Given the description of an element on the screen output the (x, y) to click on. 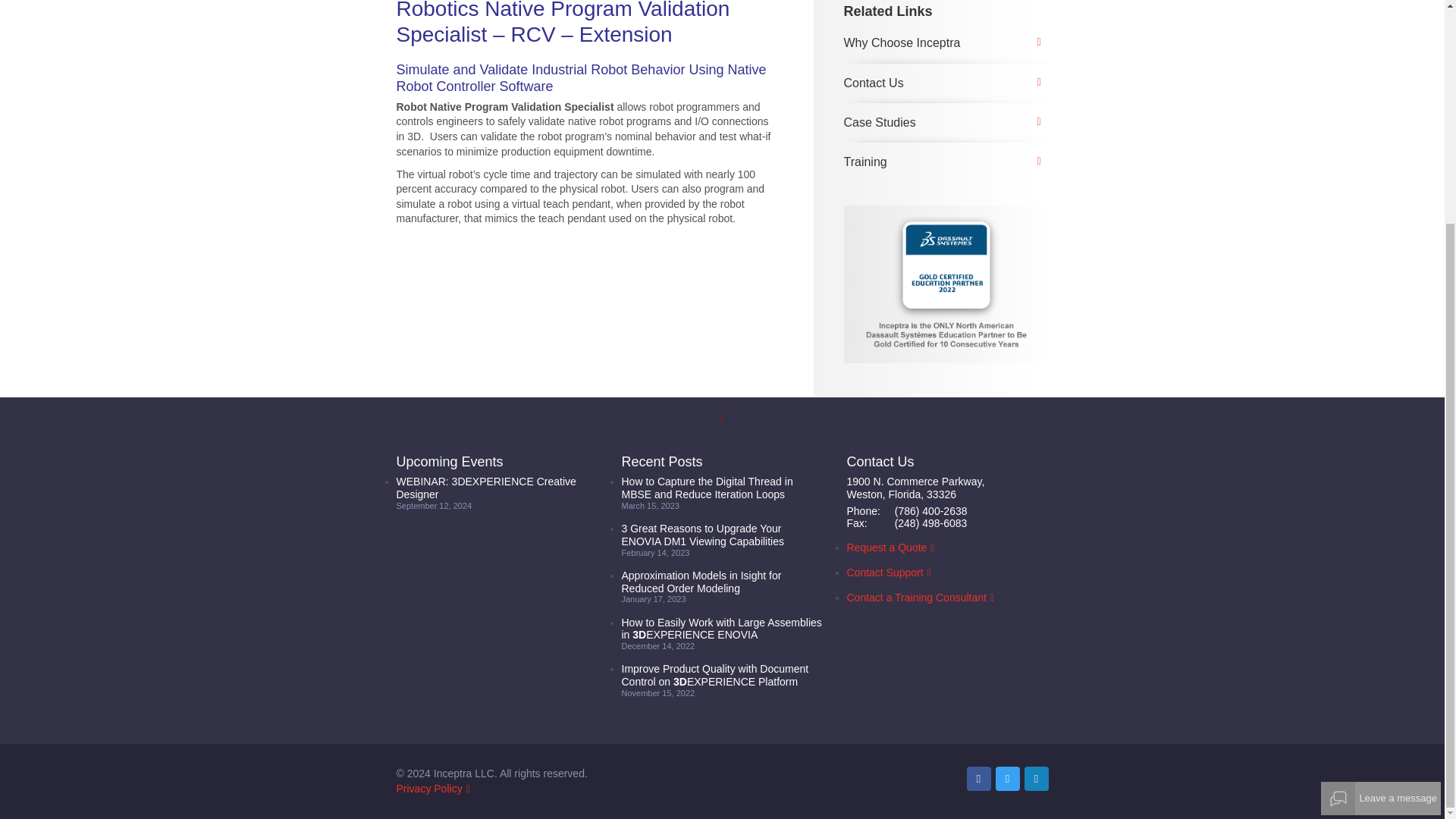
Follow us on Facebook (978, 778)
Follow us on Twitter (1006, 778)
Request a Quote (885, 547)
Contact a Training Consultant (915, 597)
Contact Support (884, 572)
Connect on LinkedIn (1035, 778)
